Given the description of an element on the screen output the (x, y) to click on. 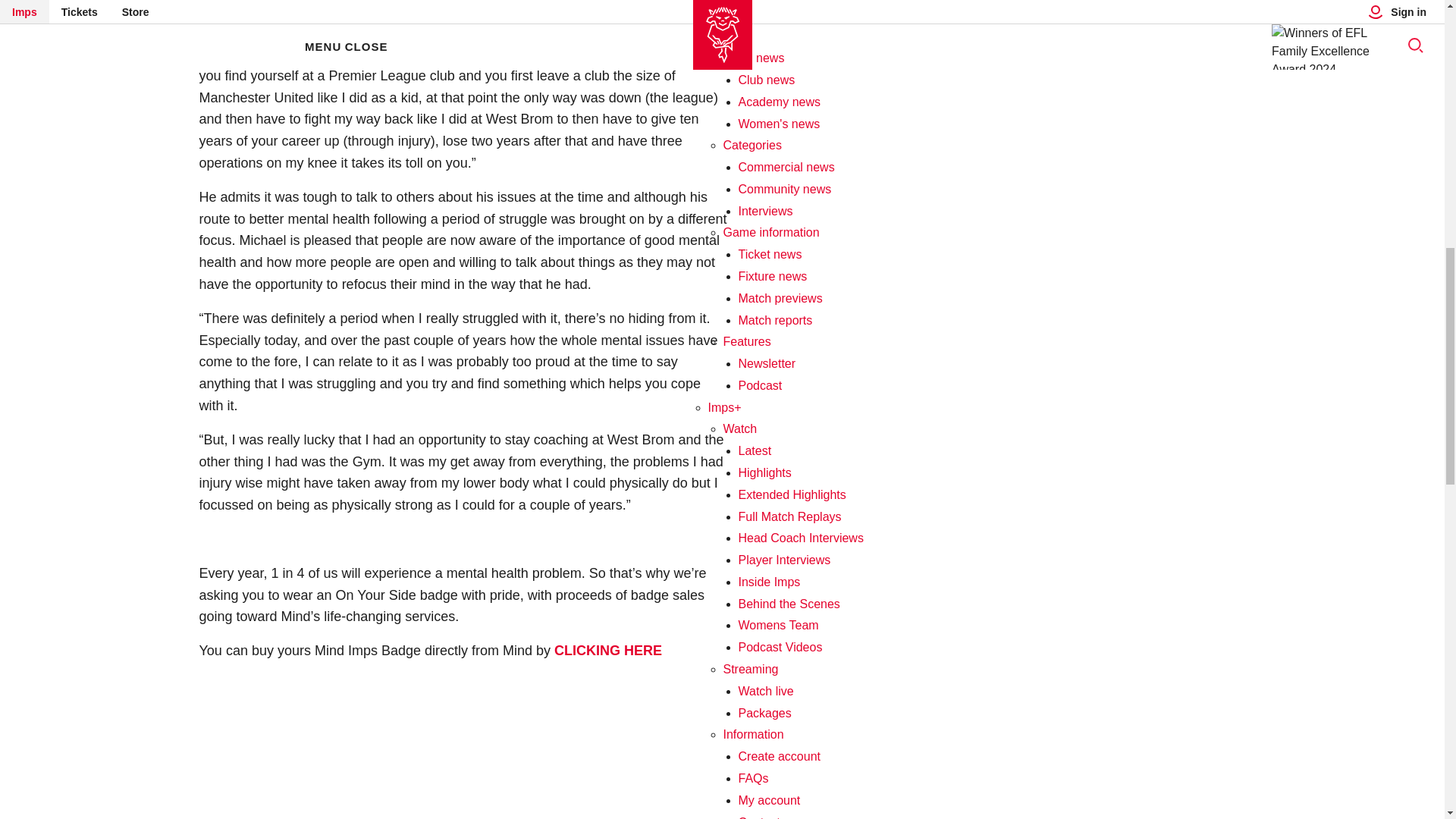
Click for information (795, 308)
Click for contact details (759, 4)
Click here for staff profiles (772, 177)
